Given the description of an element on the screen output the (x, y) to click on. 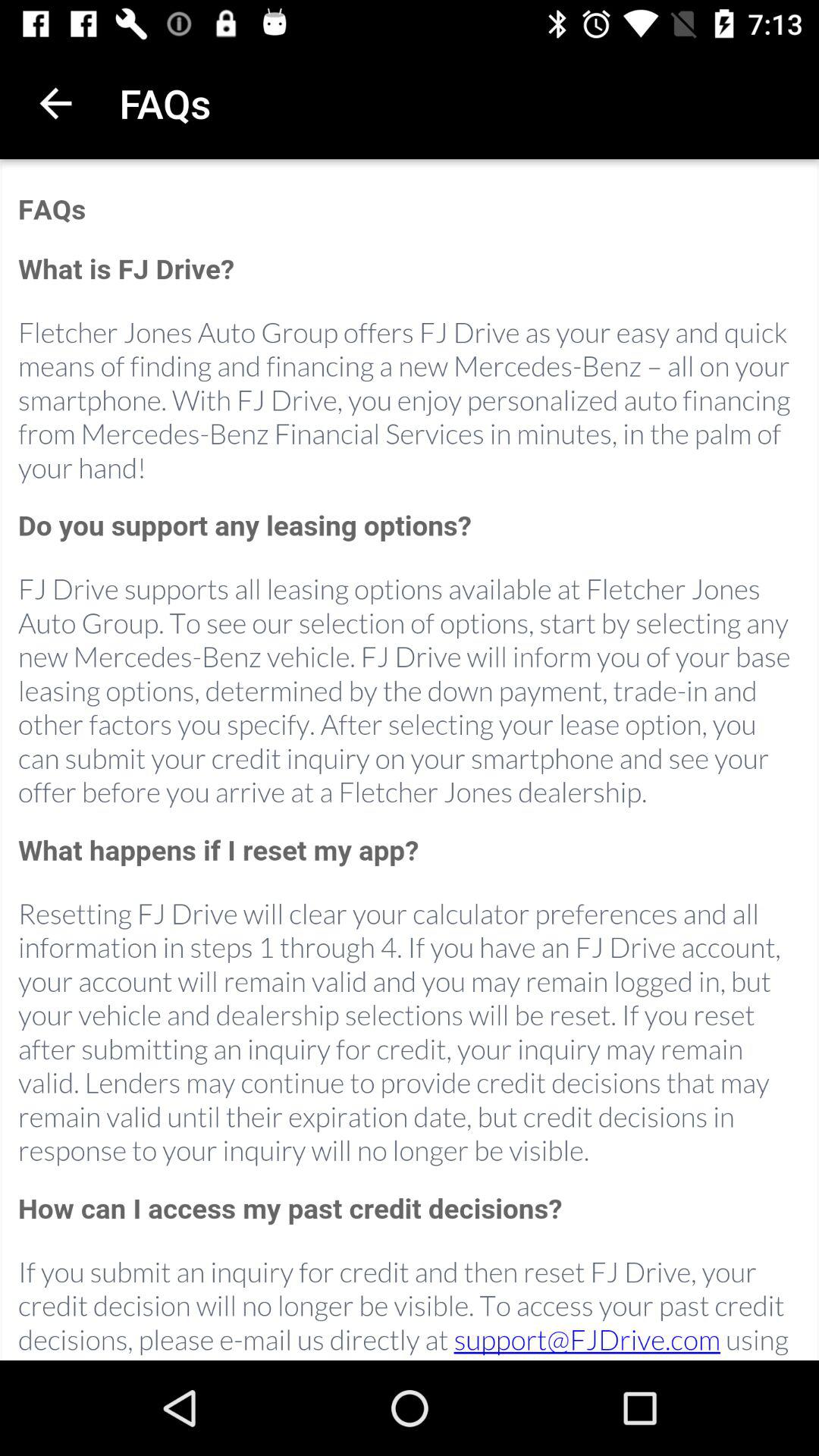
browse the faqs (409, 760)
